Given the description of an element on the screen output the (x, y) to click on. 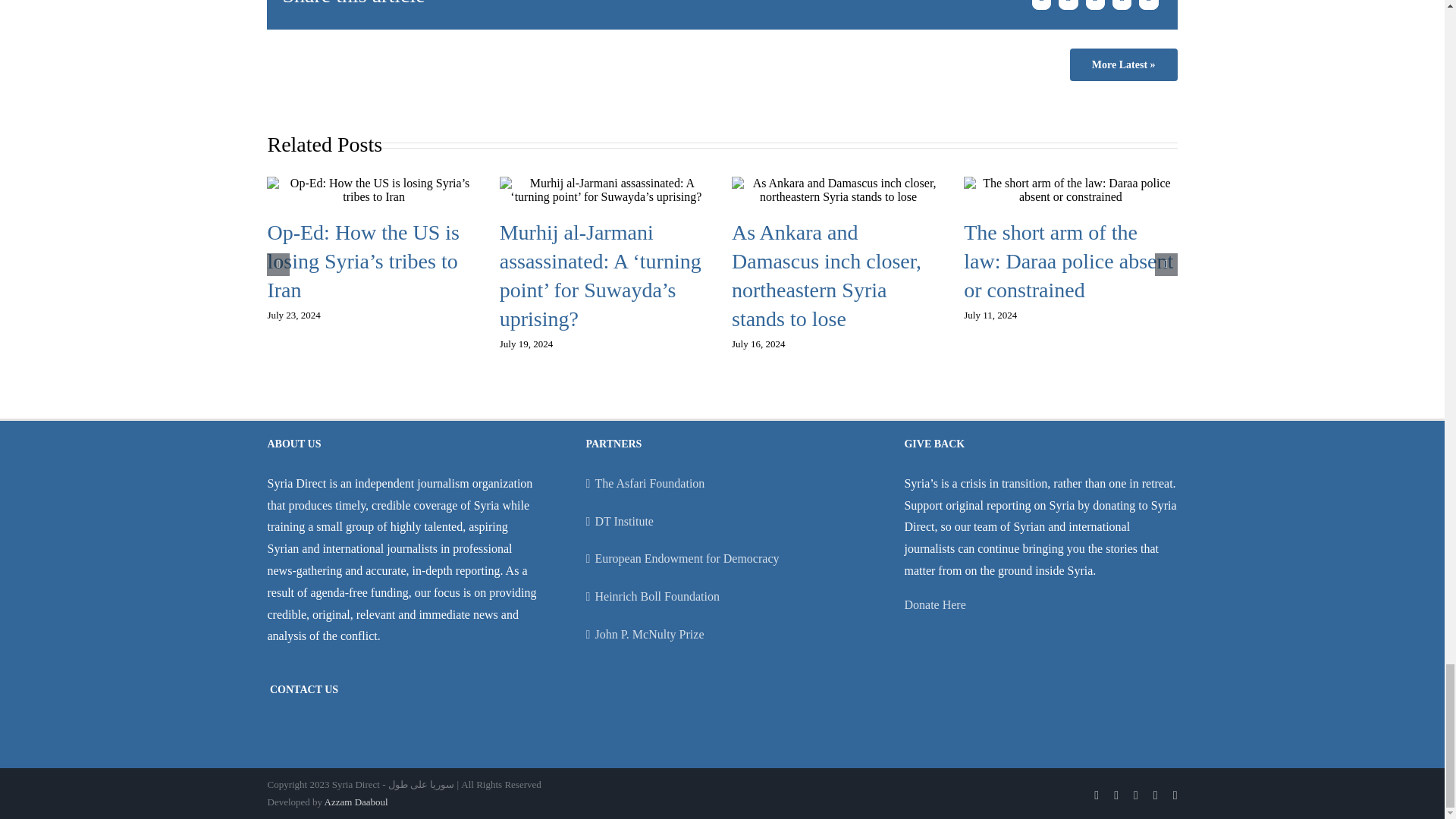
X (1067, 6)
WhatsApp (1121, 6)
Telegram (1148, 6)
Facebook (1040, 6)
The short arm of the law: Daraa police absent or constrained (1068, 261)
LinkedIn (1094, 6)
